Given the description of an element on the screen output the (x, y) to click on. 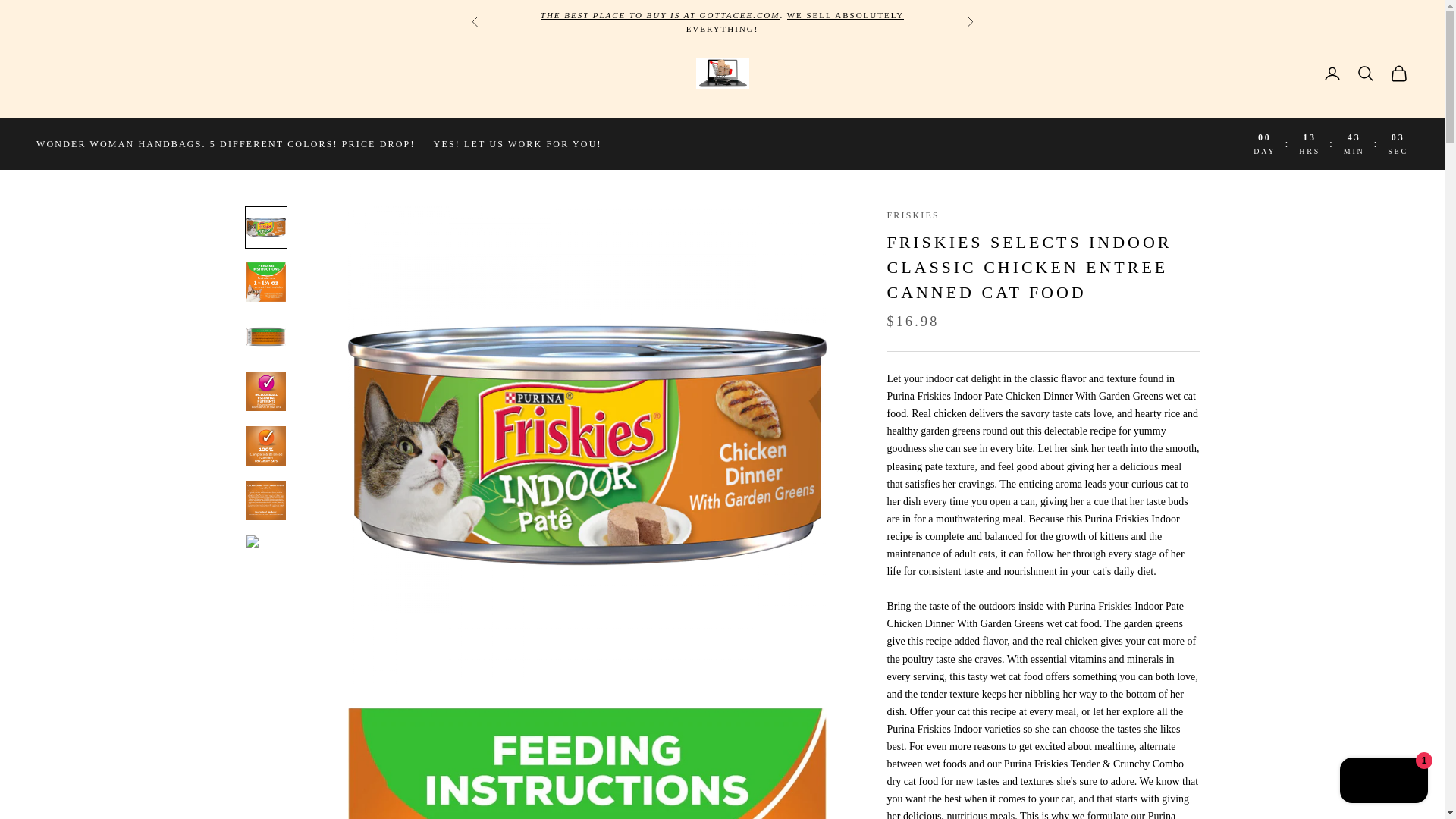
Next (968, 22)
Open cart (1398, 73)
Laushway Jewelry (794, 21)
WE SELL ABSOLUTELY EVERYTHING! (794, 21)
Shopify online store chat (1383, 781)
Open account page (1331, 73)
Open search (1365, 73)
Laushway Flight (660, 14)
Gottacee.Com (722, 73)
YES! LET US WORK FOR YOU! (517, 143)
FRISKIES (912, 214)
Previous (474, 22)
THE BEST PLACE TO BUY IS AT GOTTACEE.COM (660, 14)
